Given the description of an element on the screen output the (x, y) to click on. 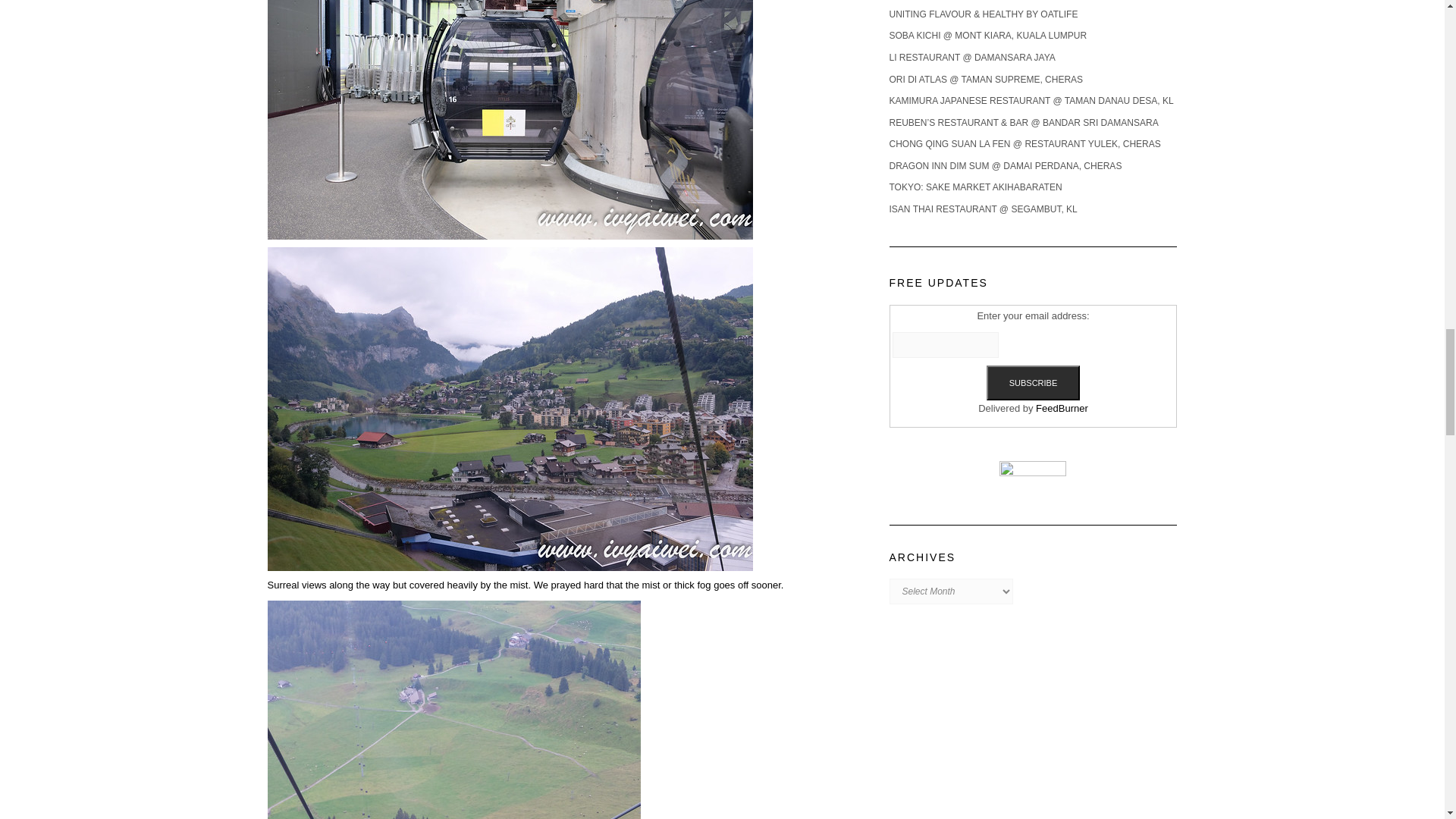
Subscribe (1033, 382)
